Given the description of an element on the screen output the (x, y) to click on. 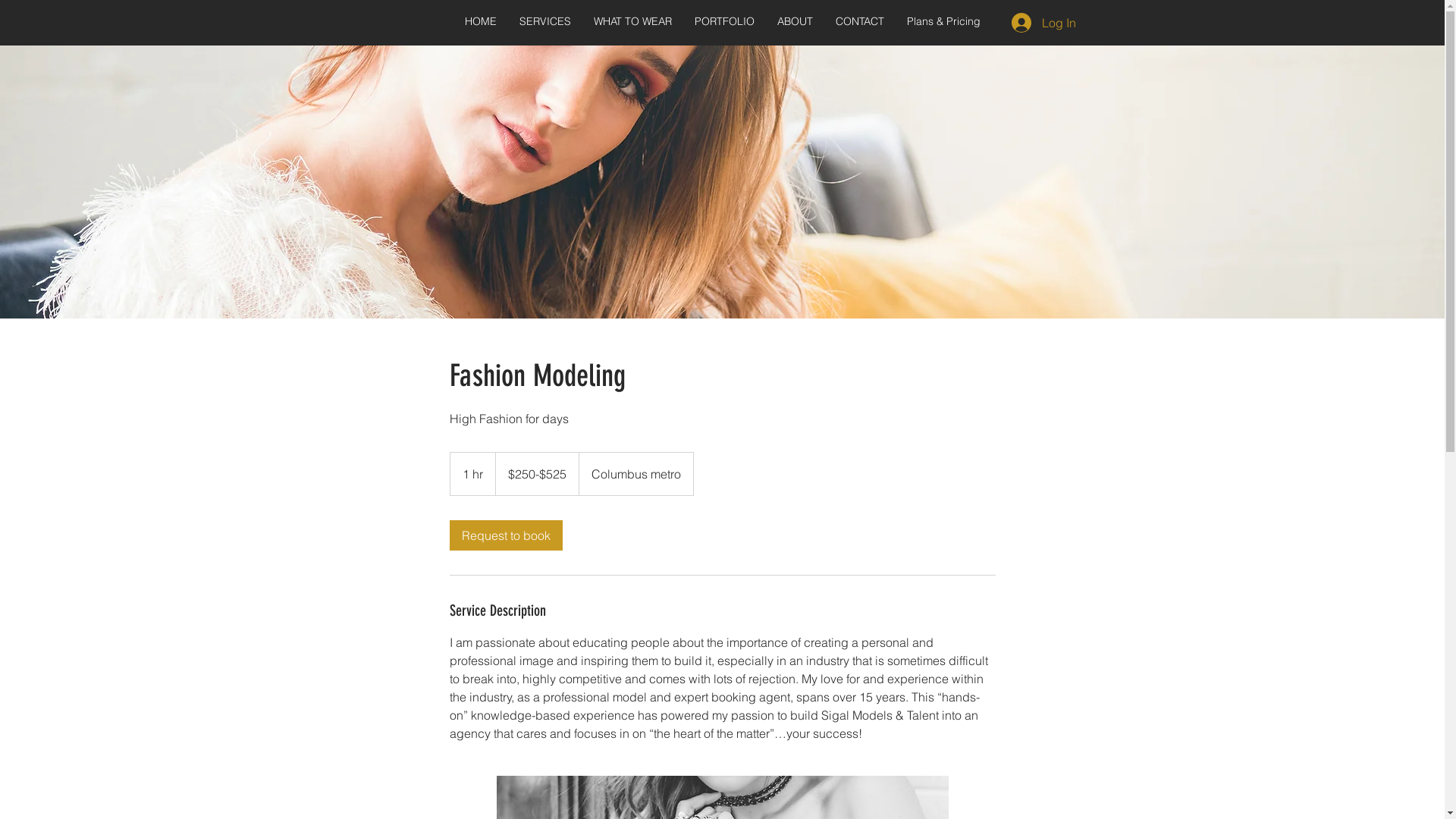
WHAT TO WEAR Element type: text (632, 21)
Request to book Element type: text (504, 535)
PORTFOLIO Element type: text (724, 21)
ABOUT Element type: text (794, 21)
SERVICES Element type: text (545, 21)
HOME Element type: text (480, 21)
CONTACT Element type: text (859, 21)
Plans & Pricing Element type: text (943, 21)
Log In Element type: text (1043, 22)
